Given the description of an element on the screen output the (x, y) to click on. 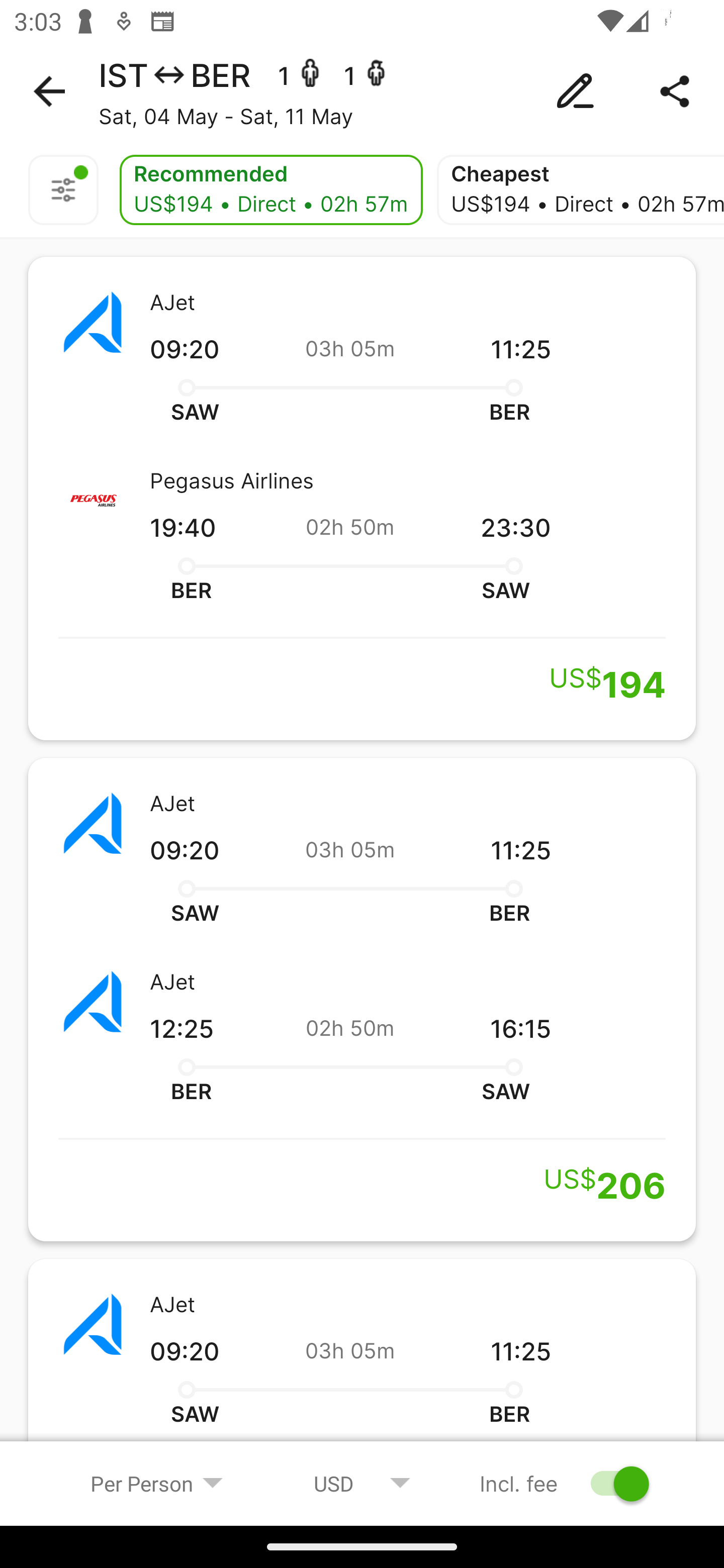
IST BER   1 -   1 - Sat, 04 May - Sat, 11 May (361, 91)
Recommended  US$194 • Direct • 02h 57m (270, 190)
Cheapest US$194 • Direct • 02h 57m (580, 190)
AJet 09:20 03h 05m 11:25 SAW BER Pegasus Airlines (361, 1371)
Per Person (156, 1482)
USD (361, 1482)
